Given the description of an element on the screen output the (x, y) to click on. 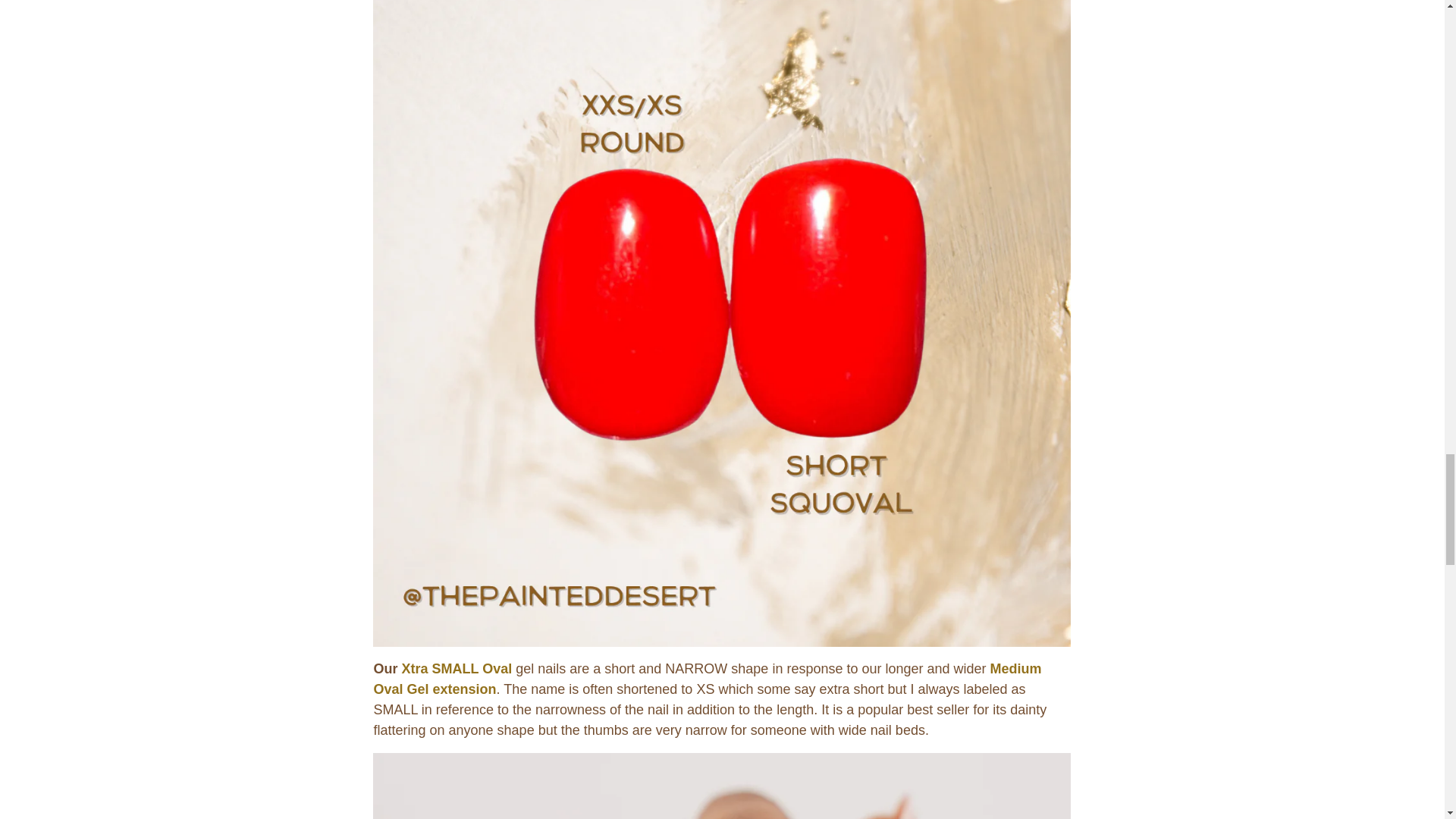
Medium Oval Full Cover Gel Nail Tips (706, 678)
Extra Small oval round full cover gel nail tips (456, 668)
